Given the description of an element on the screen output the (x, y) to click on. 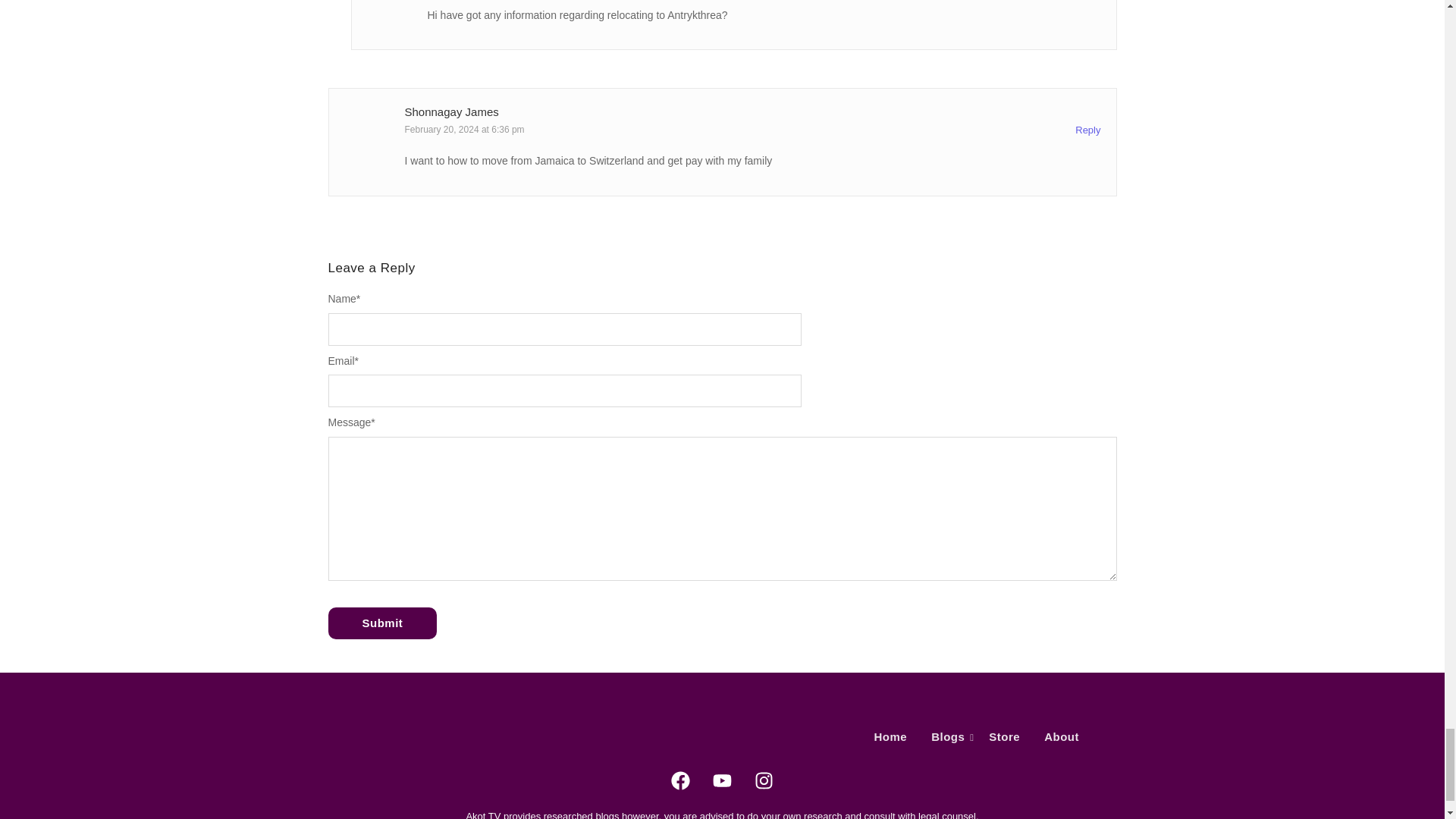
Submit (381, 623)
